Given the description of an element on the screen output the (x, y) to click on. 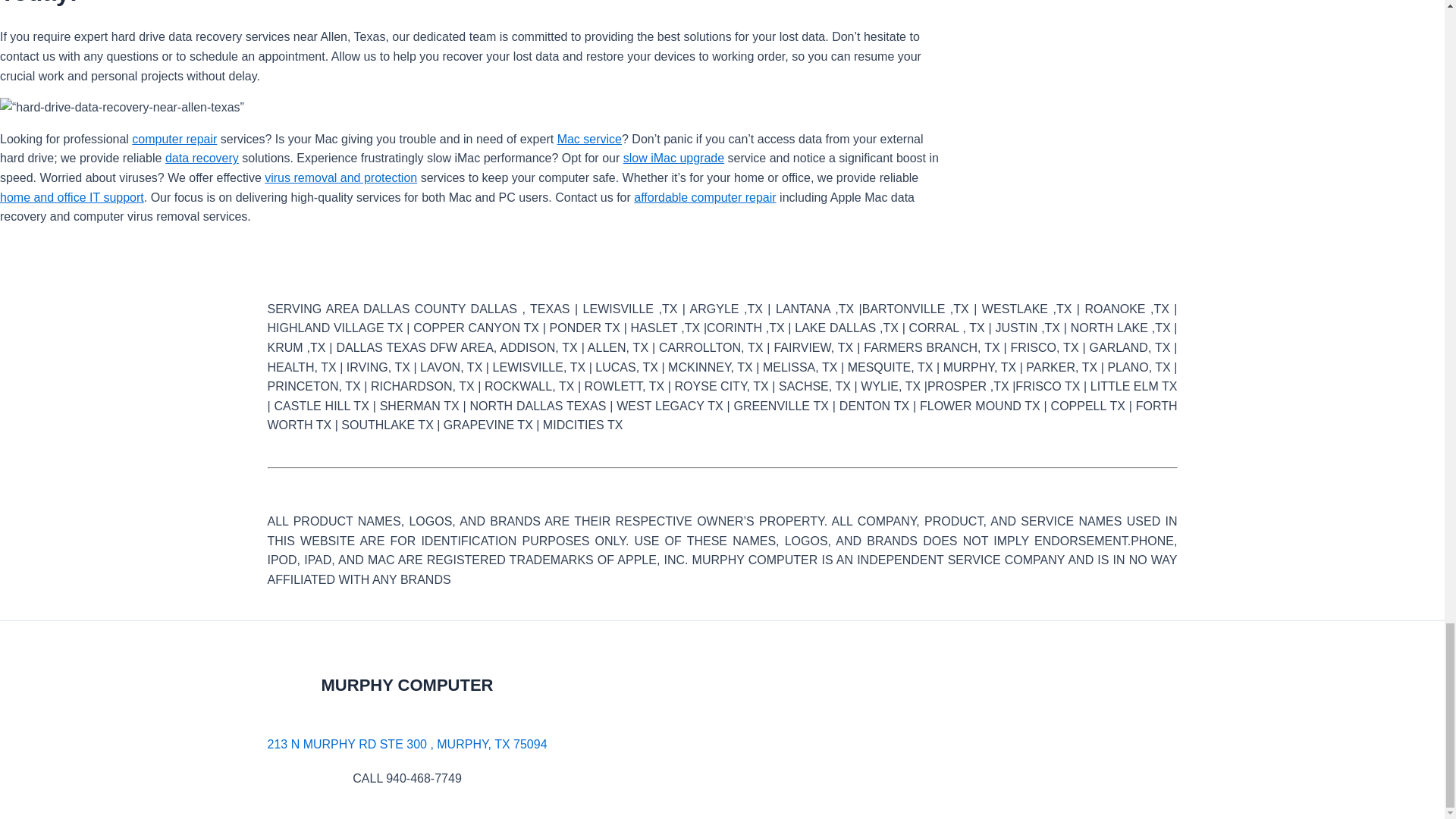
virus removal and protection (340, 177)
affordable computer repair (704, 196)
data recovery (201, 157)
slow iMac upgrade (673, 157)
213 N MURPHY RD STE 300 , MURPHY, TX 75094 (406, 743)
Mac service (589, 138)
computer repair (174, 138)
home and office IT support (72, 196)
